Given the description of an element on the screen output the (x, y) to click on. 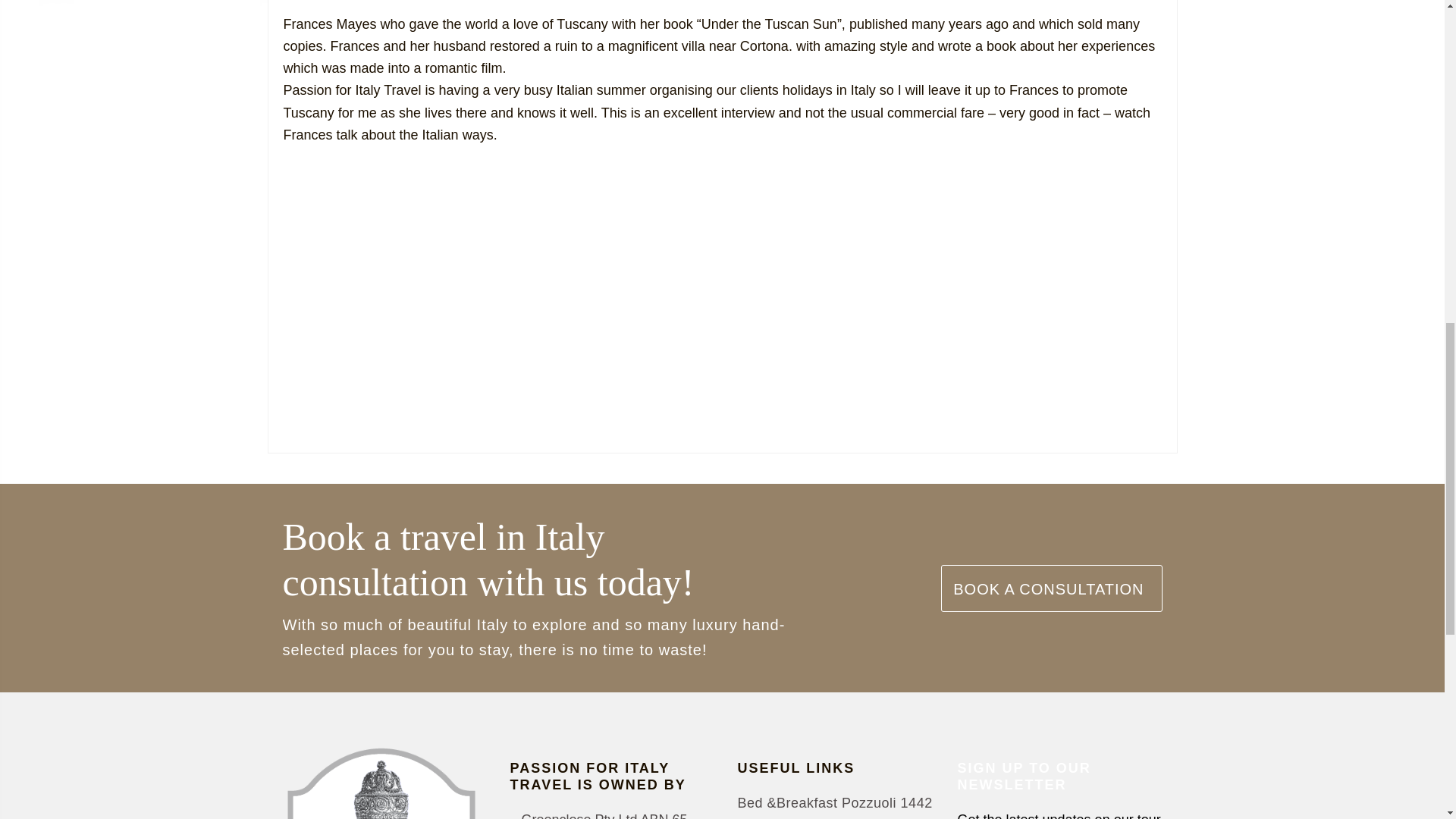
PFI-logo-white (381, 782)
